Given the description of an element on the screen output the (x, y) to click on. 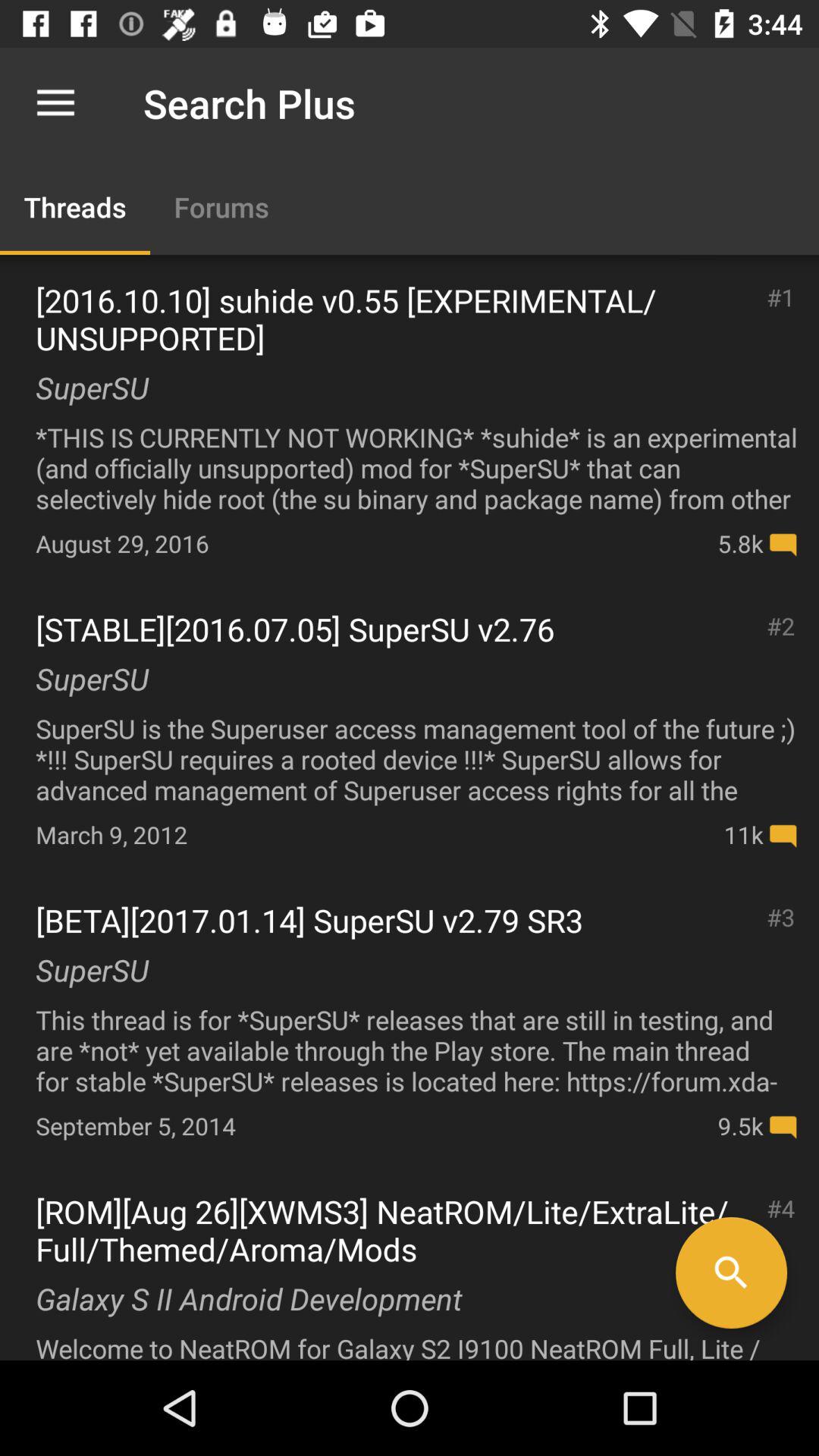
search (731, 1272)
